Given the description of an element on the screen output the (x, y) to click on. 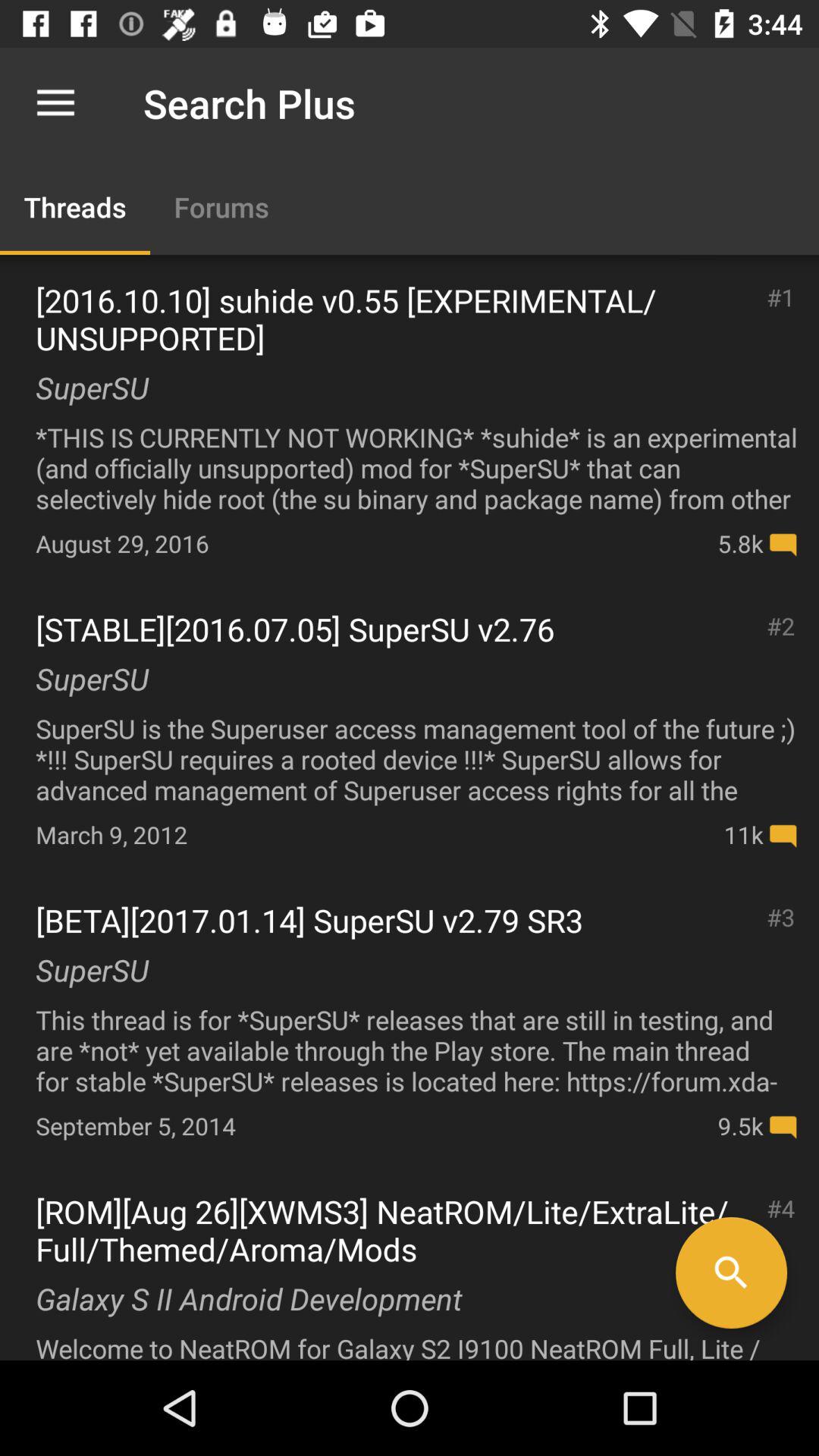
search (731, 1272)
